Given the description of an element on the screen output the (x, y) to click on. 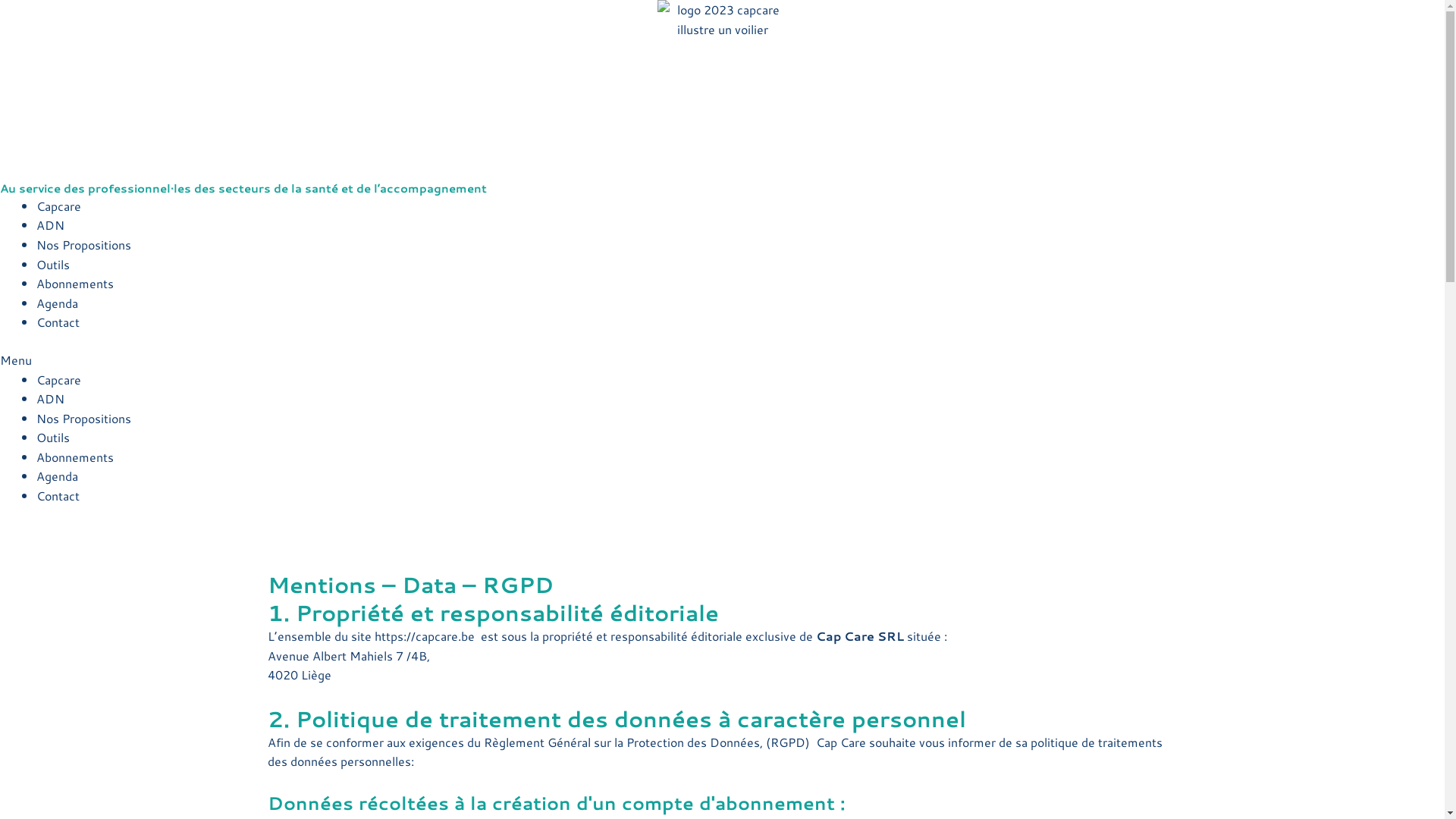
Nos Propositions Element type: text (83, 417)
Agenda Element type: text (57, 475)
Outils Element type: text (52, 436)
Capcare Element type: text (58, 378)
ADN Element type: text (50, 398)
Contact Element type: text (57, 495)
Agenda Element type: text (57, 302)
Nos Propositions Element type: text (83, 244)
Abonnements Element type: text (74, 282)
Outils Element type: text (52, 264)
Capcare Element type: text (58, 205)
Contact Element type: text (57, 321)
Abonnements Element type: text (74, 456)
ADN Element type: text (50, 224)
